Given the description of an element on the screen output the (x, y) to click on. 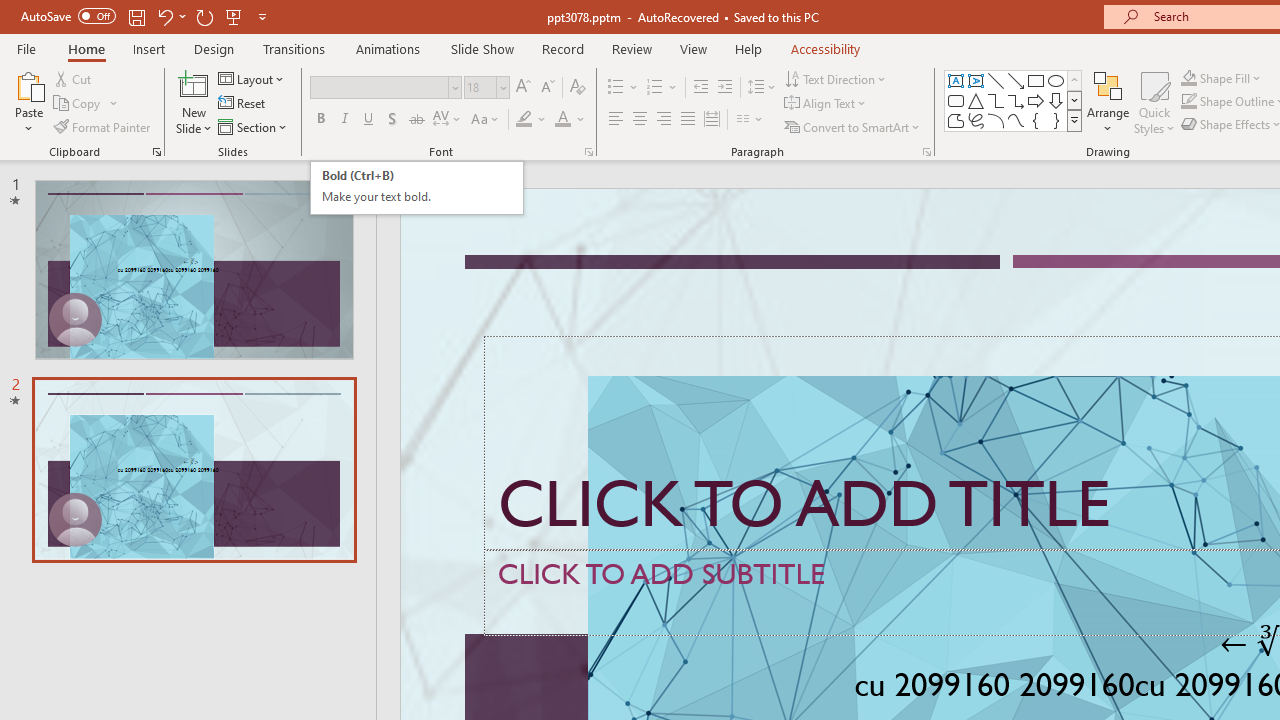
Clear Formatting (577, 87)
Copy (78, 103)
Freeform: Shape (955, 120)
Left Brace (1035, 120)
Curve (1016, 120)
Rectangle (1035, 80)
Home (86, 48)
Customize Quick Access Toolbar (262, 15)
Align Right (663, 119)
Freeform: Scribble (975, 120)
Line Arrow (1016, 80)
Arrange (1108, 102)
Align Text (826, 103)
Font (379, 87)
